Given the description of an element on the screen output the (x, y) to click on. 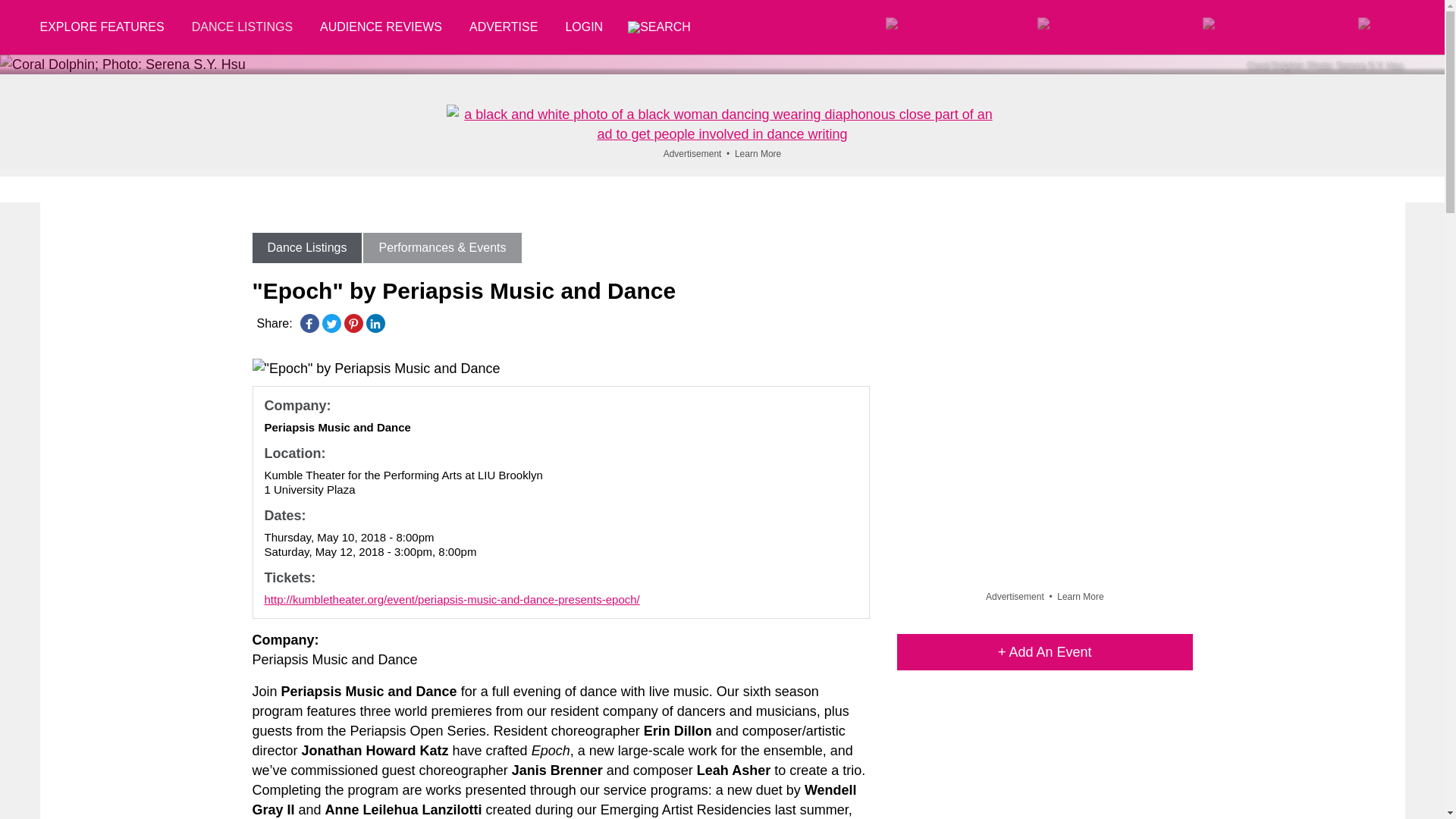
LinkedIn (375, 322)
AUDIENCE REVIEWS (380, 27)
DANCE LISTINGS (241, 27)
EXPLORE FEATURES (108, 27)
ADVERTISE (503, 27)
LOGIN (583, 27)
Pinterest (353, 322)
Facebook (309, 322)
Twitter (331, 322)
